Given the description of an element on the screen output the (x, y) to click on. 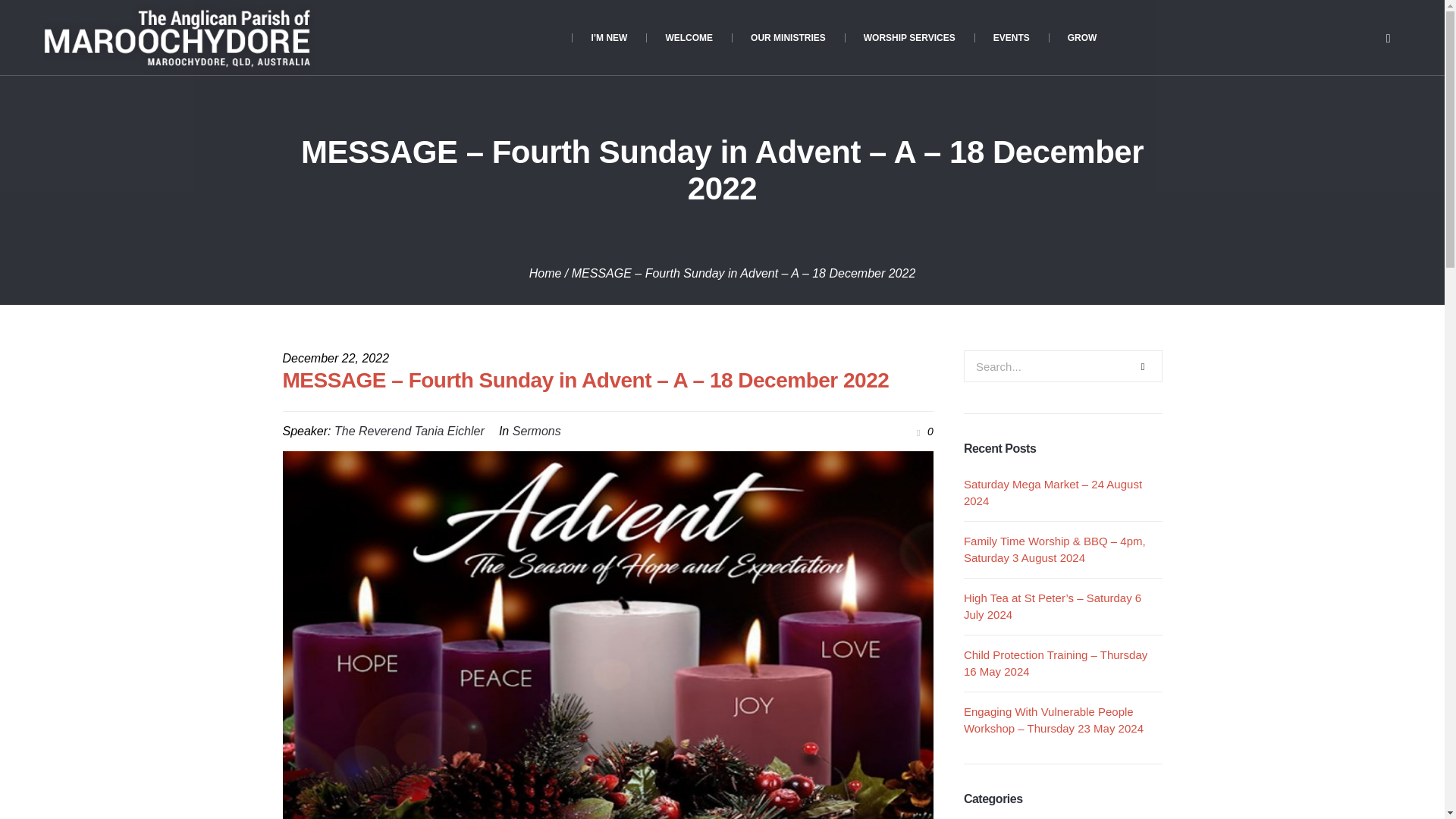
OUR MINISTRIES (788, 37)
EVENTS (1011, 37)
0 (922, 431)
December 22, 2022 (335, 358)
Sermons (536, 431)
The Reverend Tania Eichler (409, 431)
GROW (1082, 37)
WELCOME (689, 37)
WORSHIP SERVICES (909, 37)
Speaker The Reverend Tania Eichler (409, 431)
Home (545, 273)
